Given the description of an element on the screen output the (x, y) to click on. 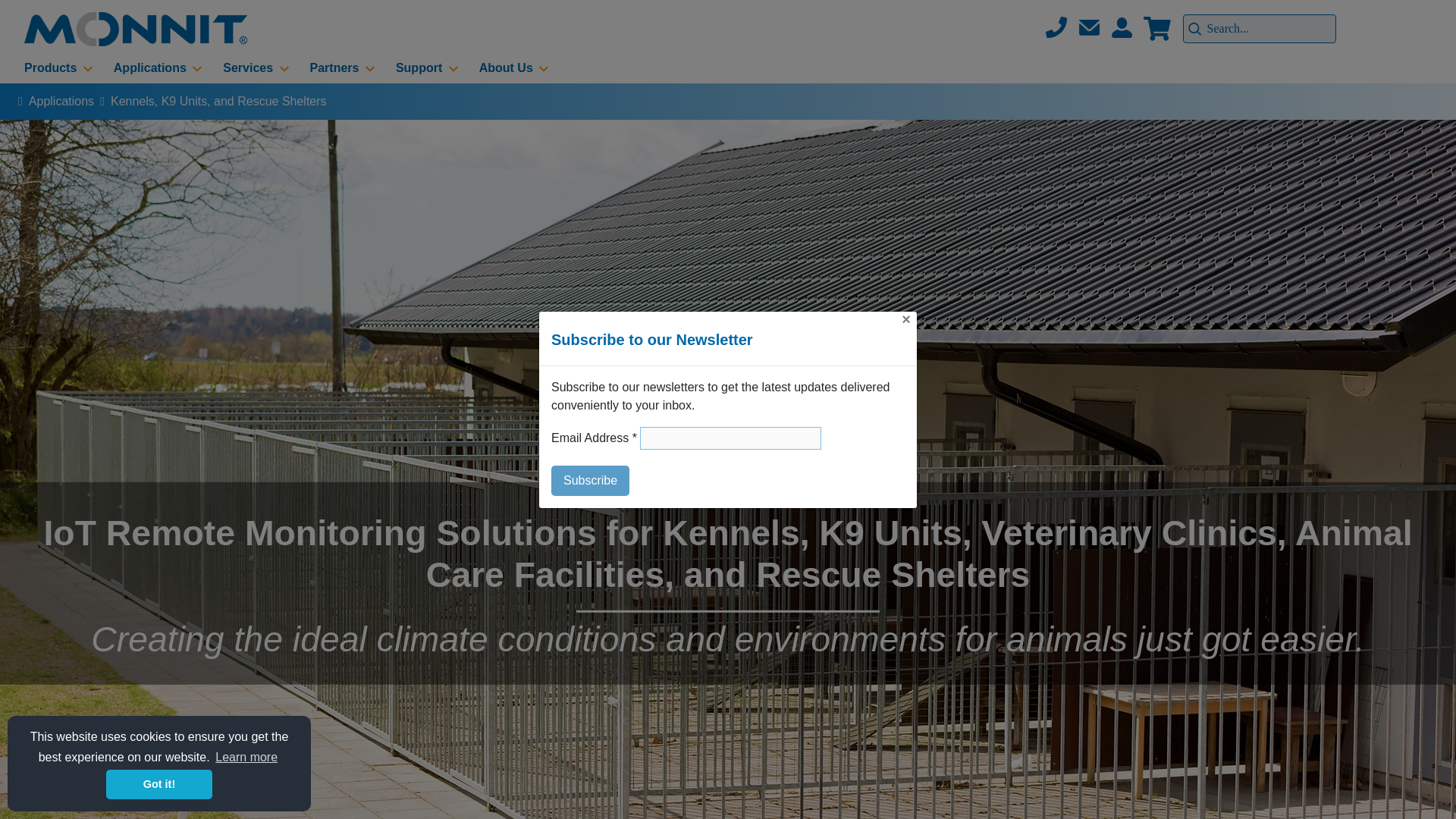
Got it! (159, 784)
Subscribe (589, 481)
Learn more (245, 757)
